Given the description of an element on the screen output the (x, y) to click on. 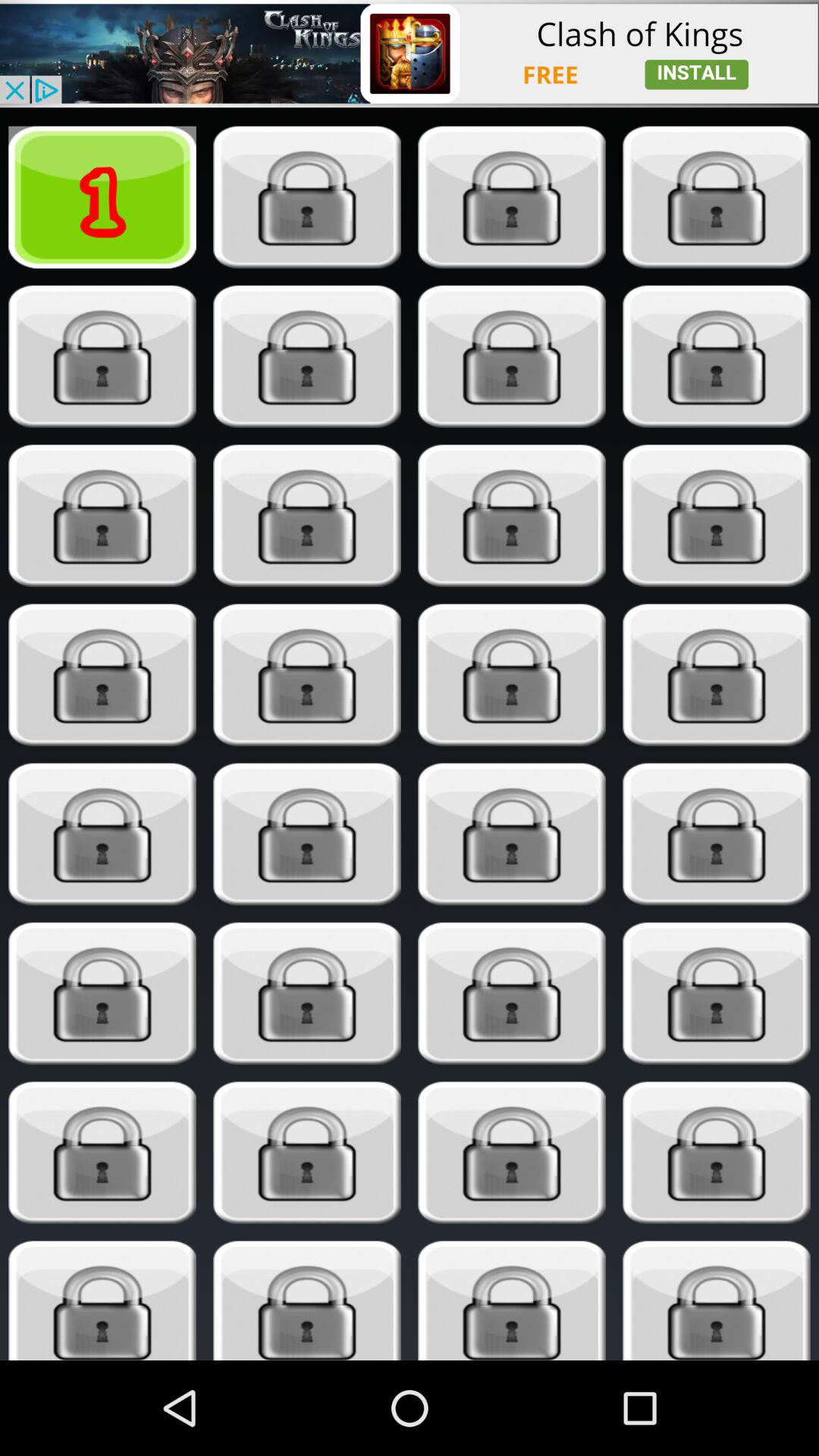
its locked (306, 993)
